Given the description of an element on the screen output the (x, y) to click on. 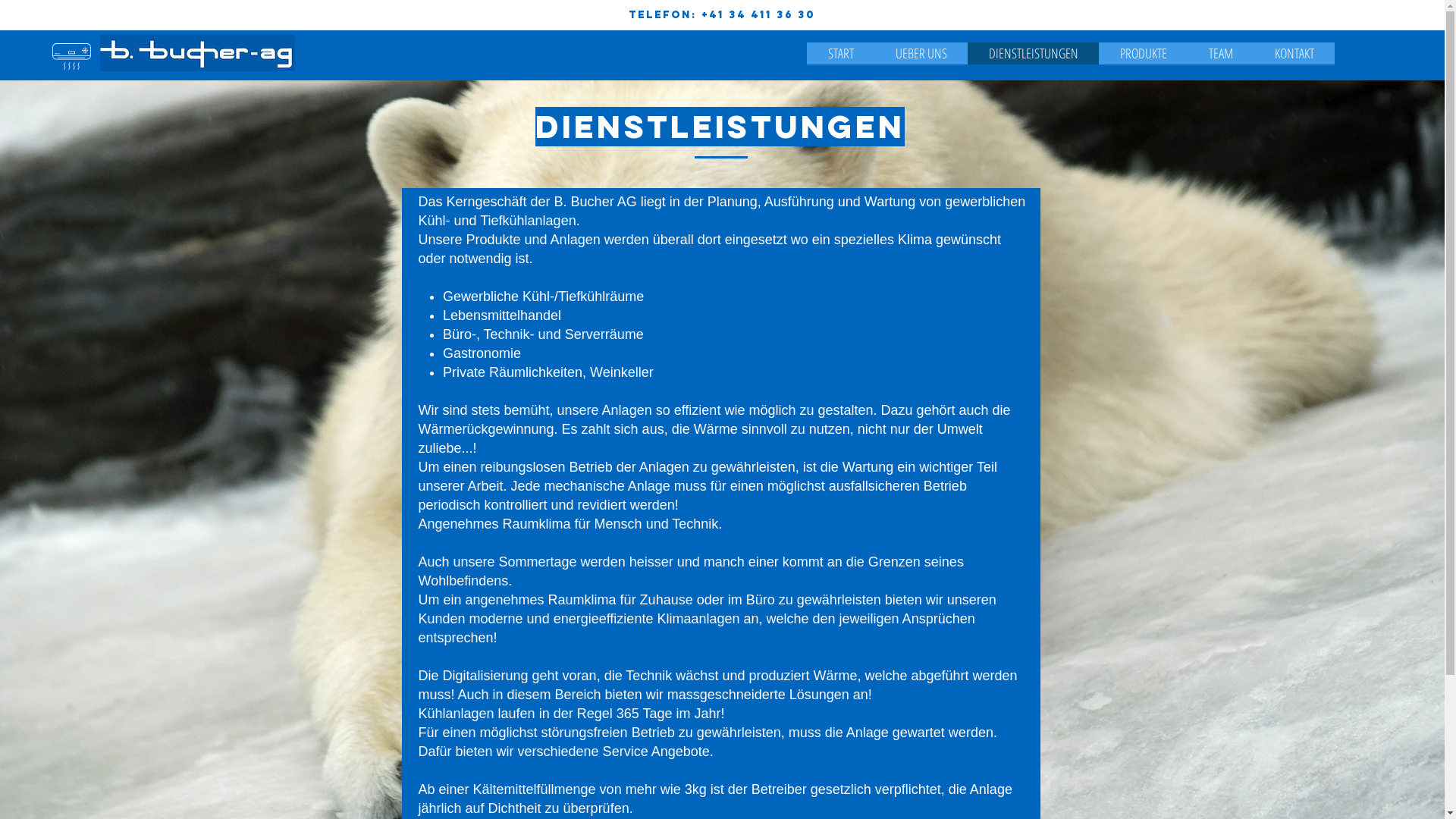
TEAM Element type: text (1220, 53)
DIENSTLEISTUNGEN Element type: text (1032, 53)
UEBER UNS Element type: text (920, 53)
KONTAKT Element type: text (1293, 53)
START Element type: text (840, 53)
PRODUKTE Element type: text (1142, 53)
